Given the description of an element on the screen output the (x, y) to click on. 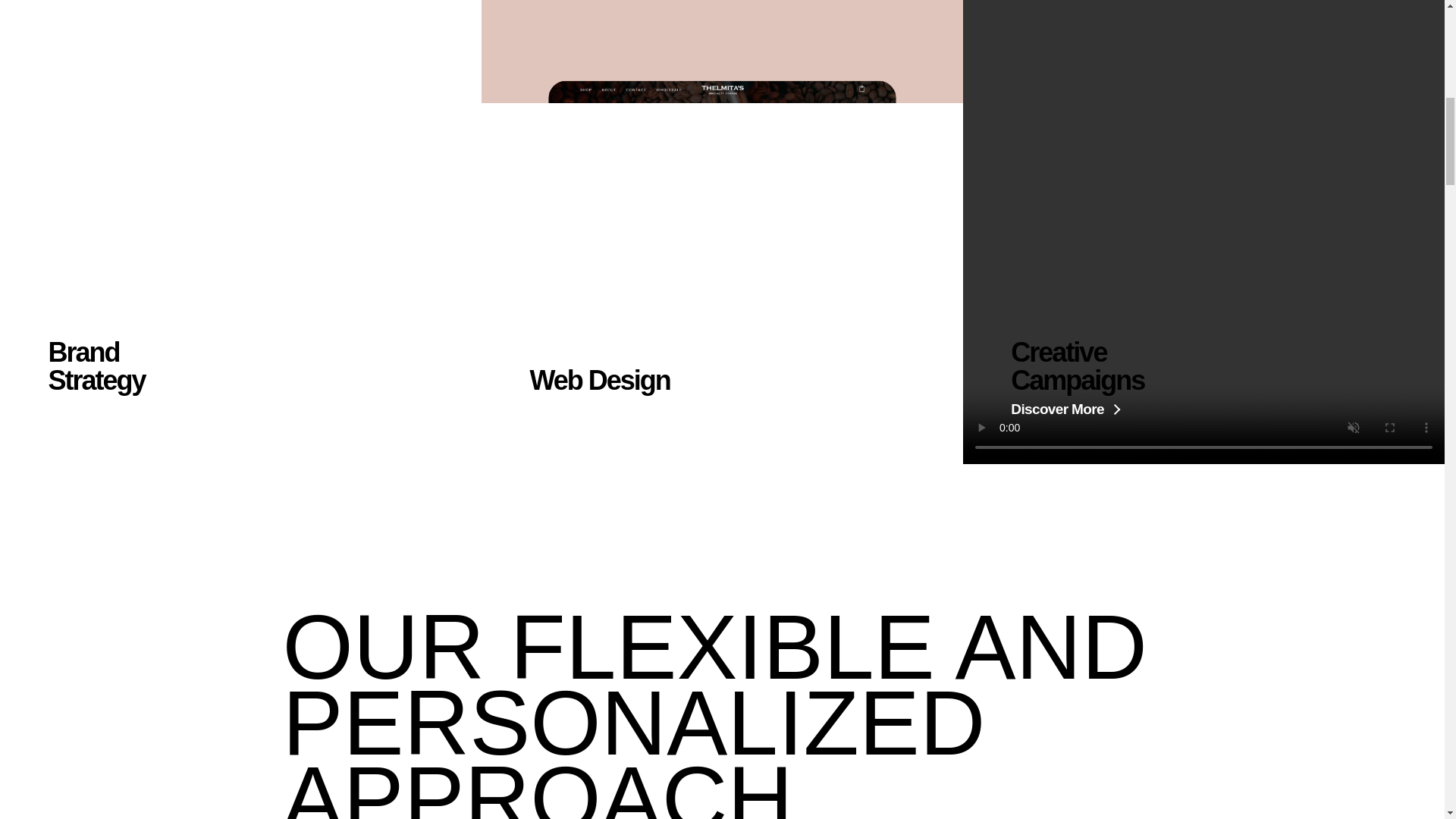
Discover More (1064, 409)
Discover More (101, 409)
Discover More (583, 409)
